Given the description of an element on the screen output the (x, y) to click on. 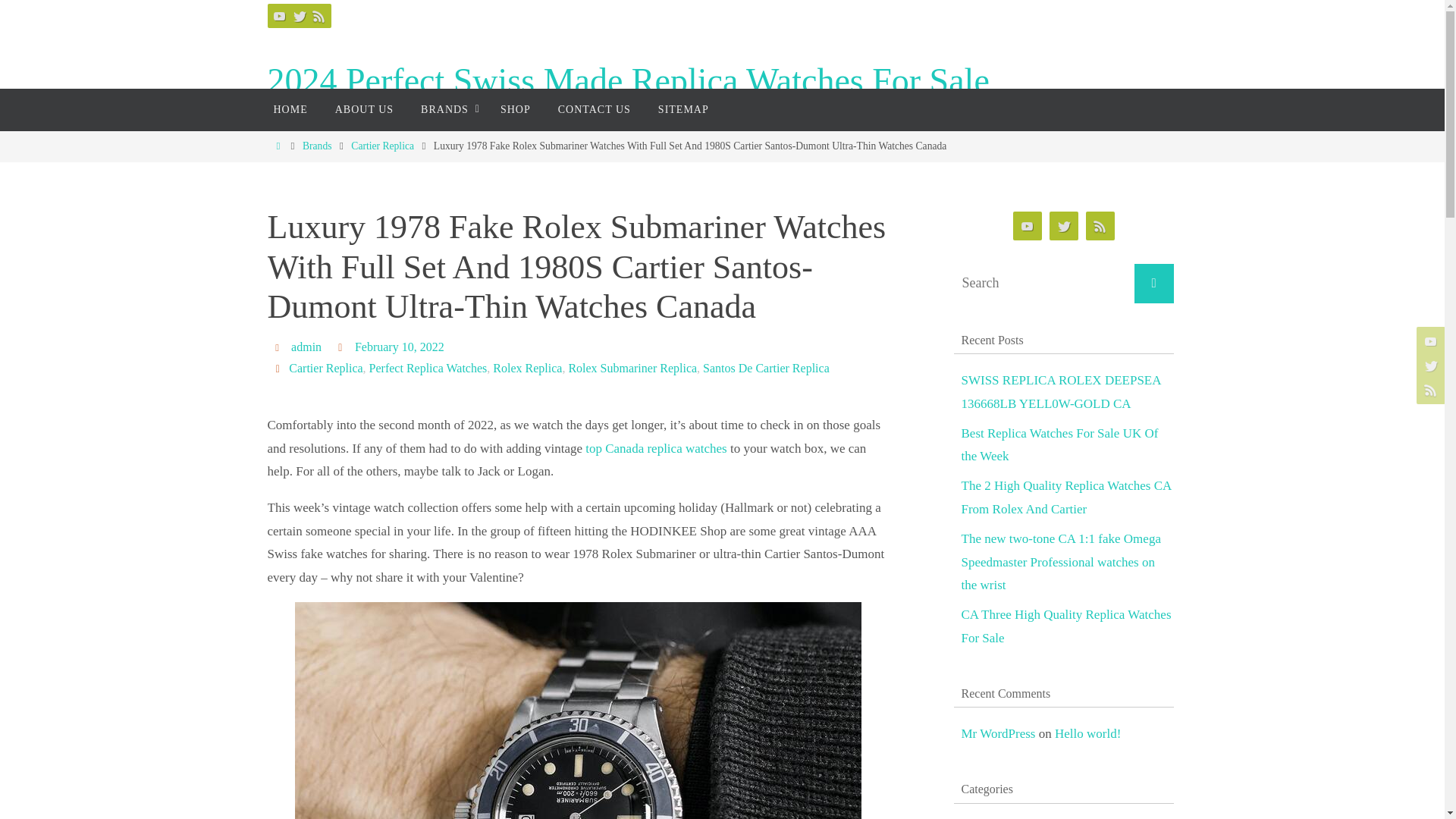
HOME (289, 109)
Twitter (1428, 365)
Date (342, 346)
2024 Perfect Swiss Made Replica Watches For Sale (627, 81)
Twitter (298, 15)
YouTube (278, 15)
Author  (278, 346)
YouTube (1027, 225)
RSS (317, 15)
BRANDS (446, 109)
RSS (1428, 389)
2024 Perfect Swiss Made Replica Watches For Sale (627, 81)
View all posts by admin (306, 346)
YouTube (1428, 340)
ABOUT US (364, 109)
